Given the description of an element on the screen output the (x, y) to click on. 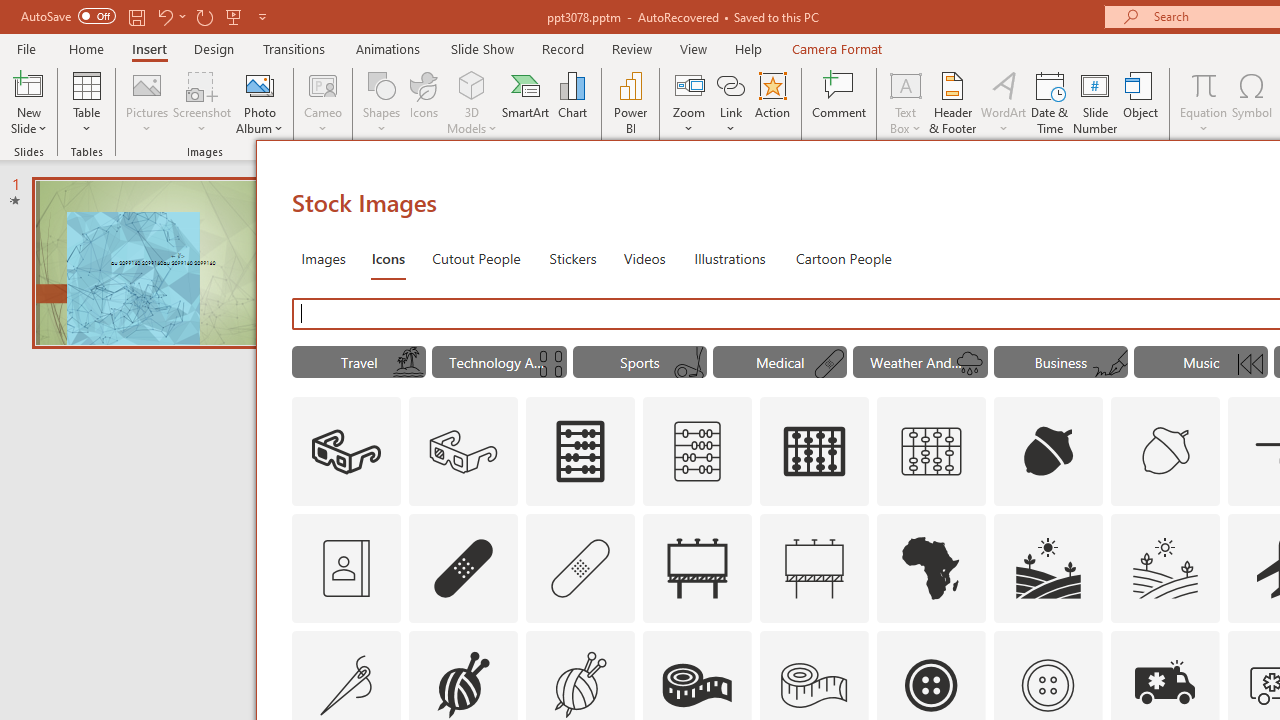
AutomationID: Icons_Africa (931, 568)
AutomationID: Icons_Binary_M (549, 364)
Power BI (630, 102)
AutomationID: Icons (1047, 685)
AutomationID: Icons_3dGlasses_M (463, 452)
AutomationID: Icons_Abacus_M (697, 452)
AutomationID: Icons_TropicalScene_M (408, 364)
AutomationID: Icons_Beginning_M (1249, 364)
